Given the description of an element on the screen output the (x, y) to click on. 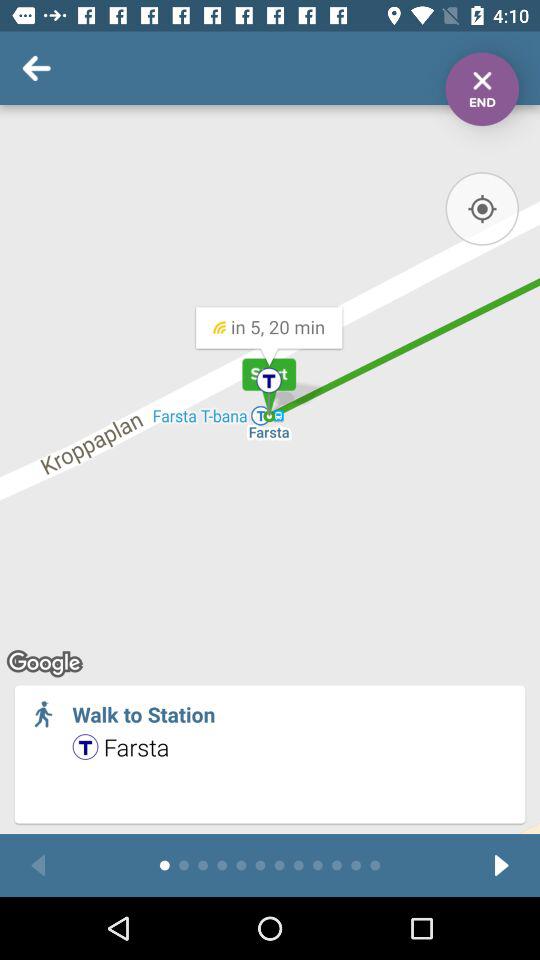
goto next (501, 865)
